Given the description of an element on the screen output the (x, y) to click on. 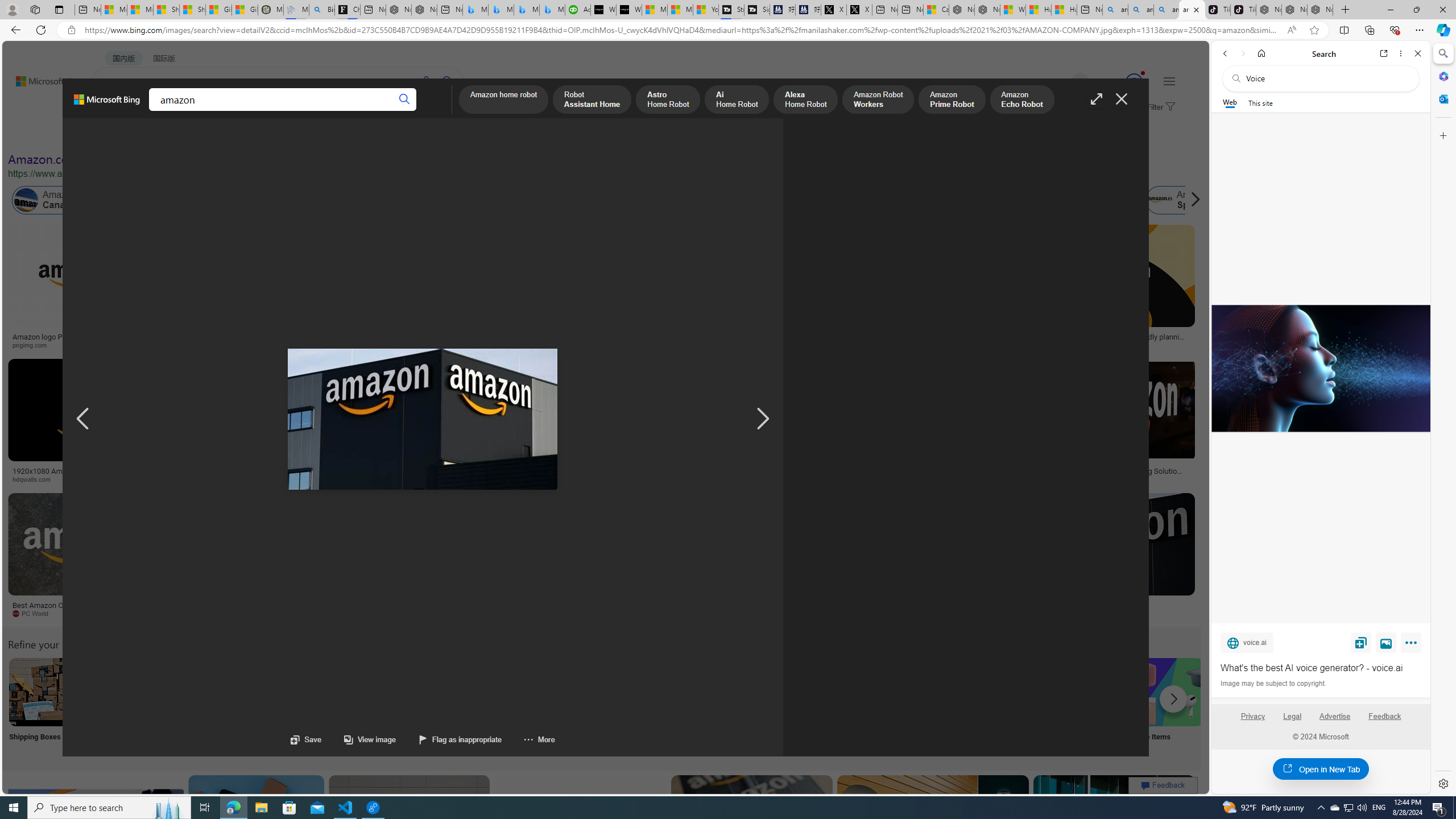
cordcuttersnews.com (860, 612)
Feedback (1384, 715)
Amazon Kids (239, 200)
Open link in new tab (1383, 53)
manilashaker.com (660, 612)
Mini TV (794, 706)
Restore (1416, 9)
Shanghai, China weather forecast | Microsoft Weather (192, 9)
Scroll more suggestions right (1173, 698)
